Given the description of an element on the screen output the (x, y) to click on. 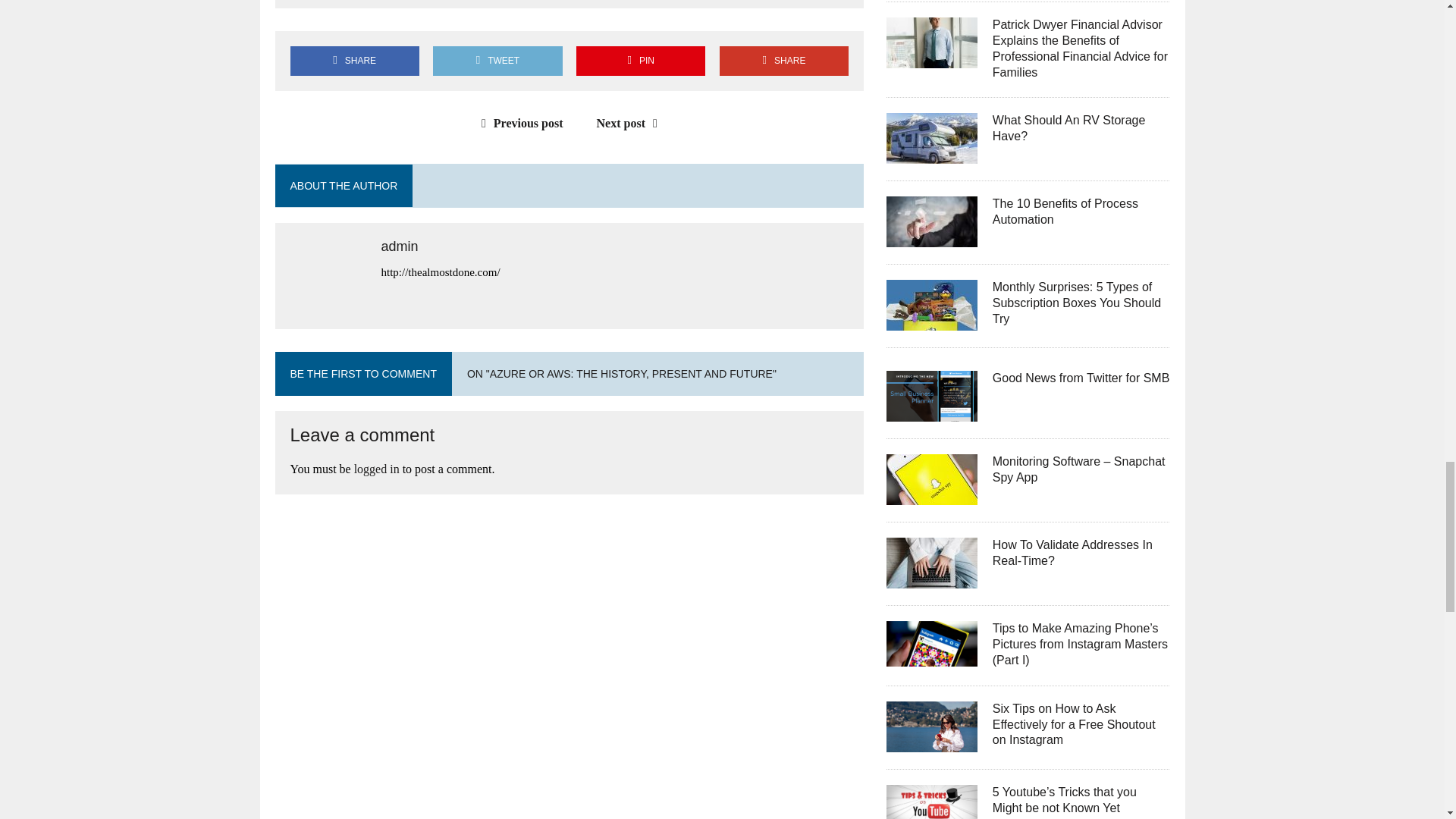
Share on Facebook (354, 60)
Pin This Post (640, 60)
Tweet This Post (497, 60)
